Given the description of an element on the screen output the (x, y) to click on. 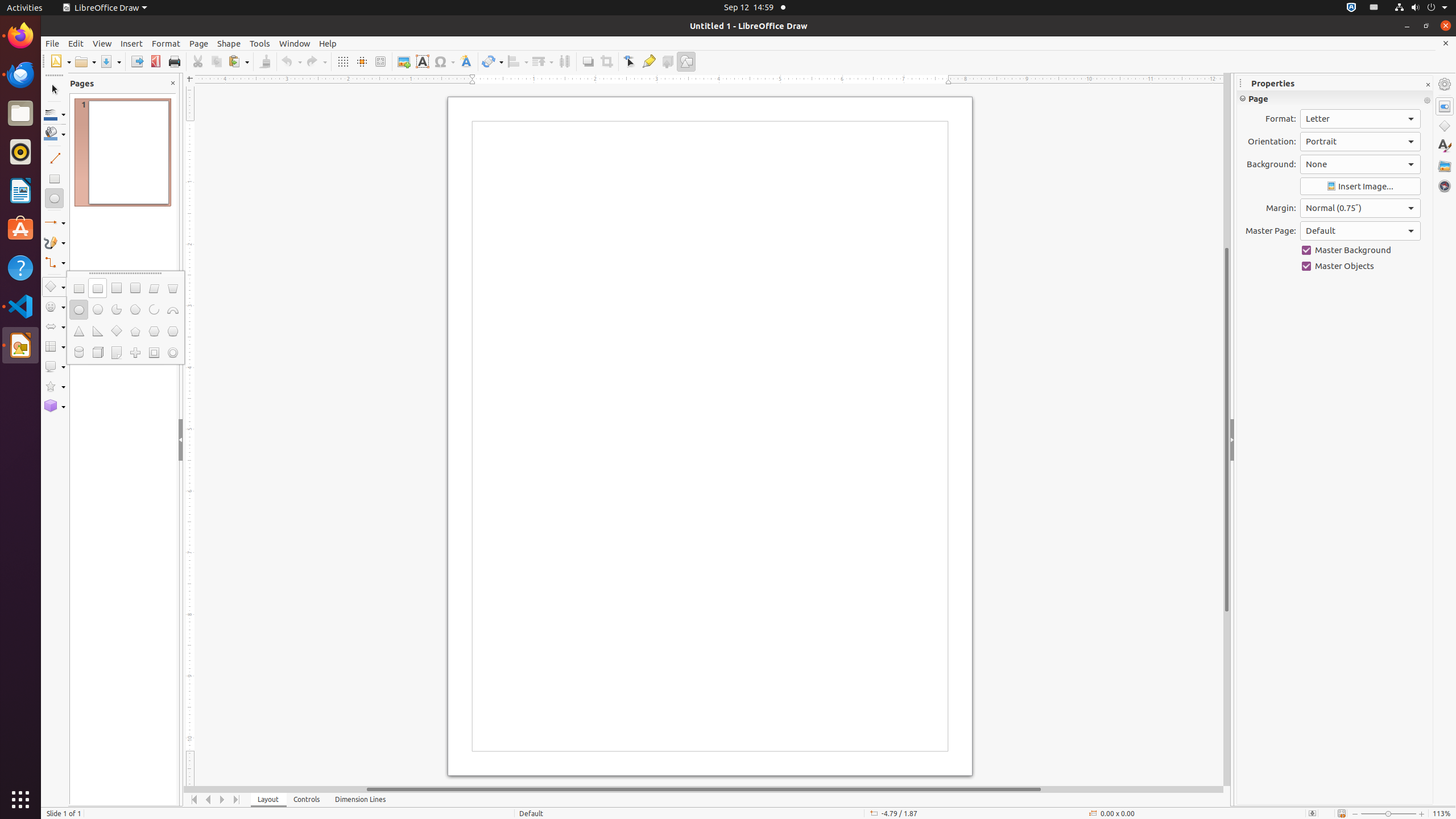
New Element type: push-button (59, 61)
Ubuntu Software Element type: push-button (20, 229)
Move To End Element type: push-button (236, 799)
Zoom & Pan Element type: push-button (379, 61)
LibreOffice Draw Element type: push-button (20, 344)
